Given the description of an element on the screen output the (x, y) to click on. 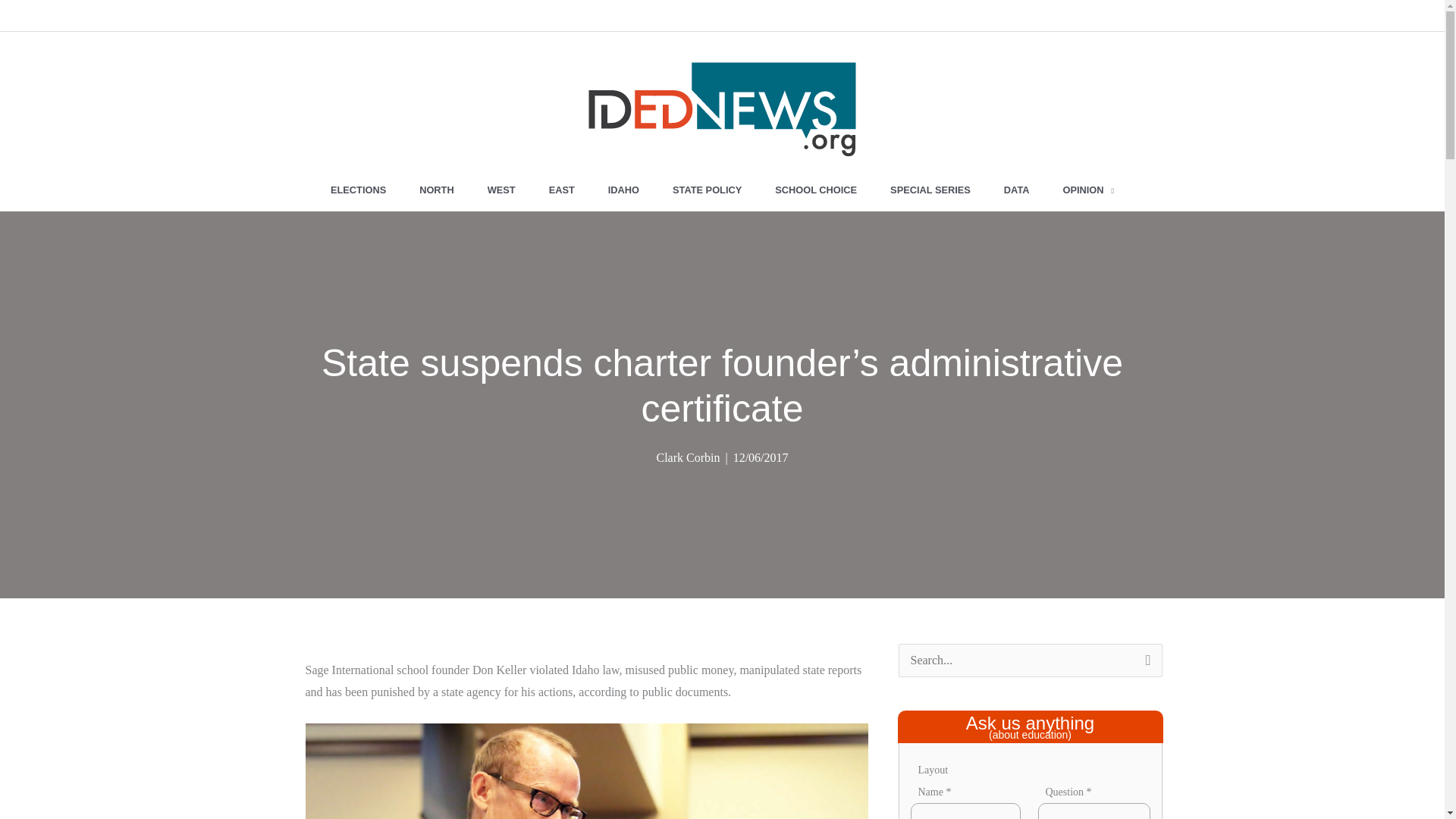
IDAHO (623, 189)
ELECTIONS (358, 189)
SCHOOL CHOICE (815, 189)
DATA (1016, 189)
EAST (561, 189)
NORTH (436, 189)
WEST (501, 189)
STATE POLICY (707, 189)
Clark Corbin (687, 457)
OPINION (1088, 189)
